Given the description of an element on the screen output the (x, y) to click on. 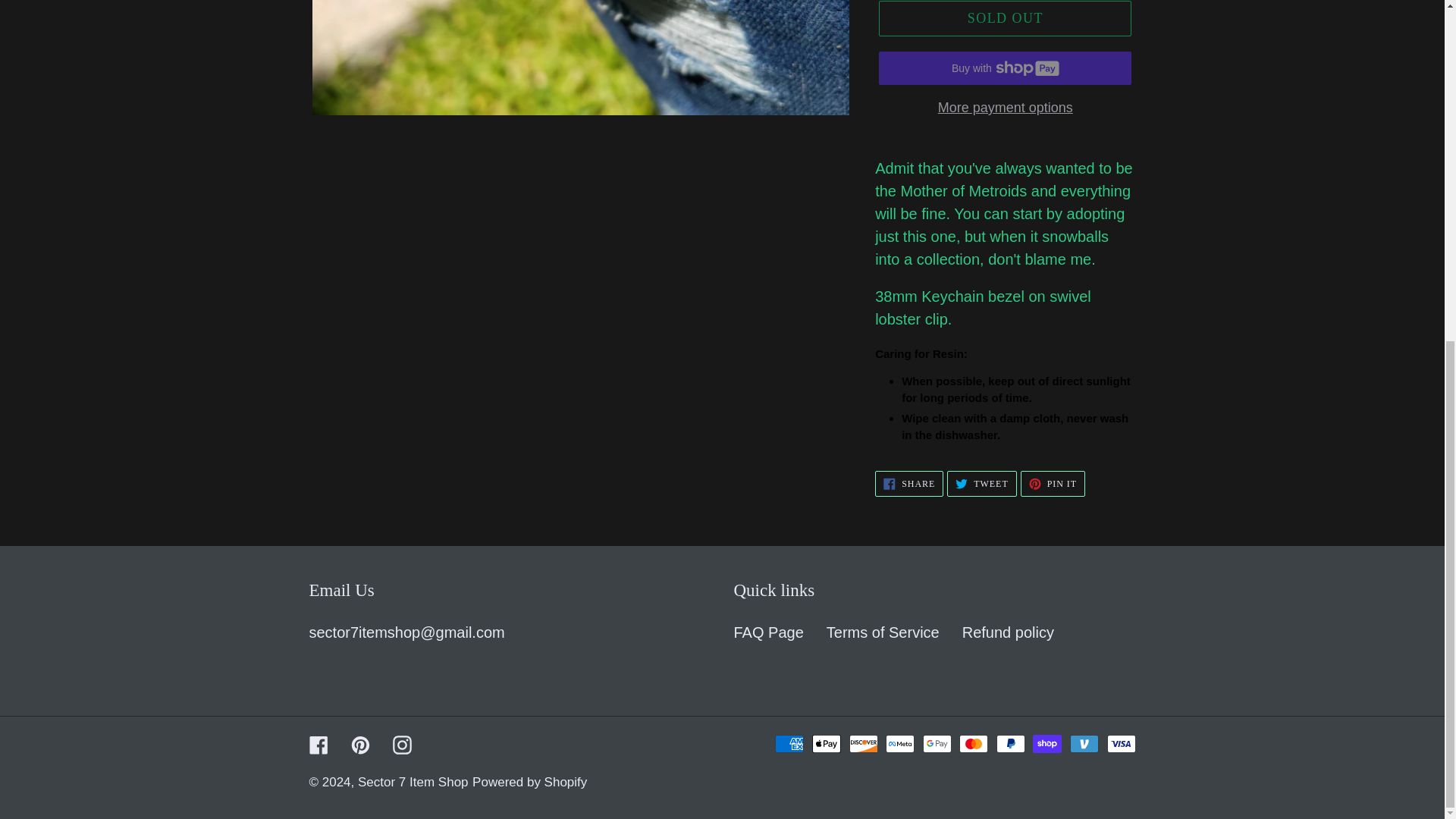
FAQ Page (768, 632)
Sector 7 Item Shop (909, 483)
Terms of Service (413, 781)
Powered by Shopify (883, 632)
Refund policy (528, 781)
More payment options (1008, 632)
SOLD OUT (1005, 107)
